Given the description of an element on the screen output the (x, y) to click on. 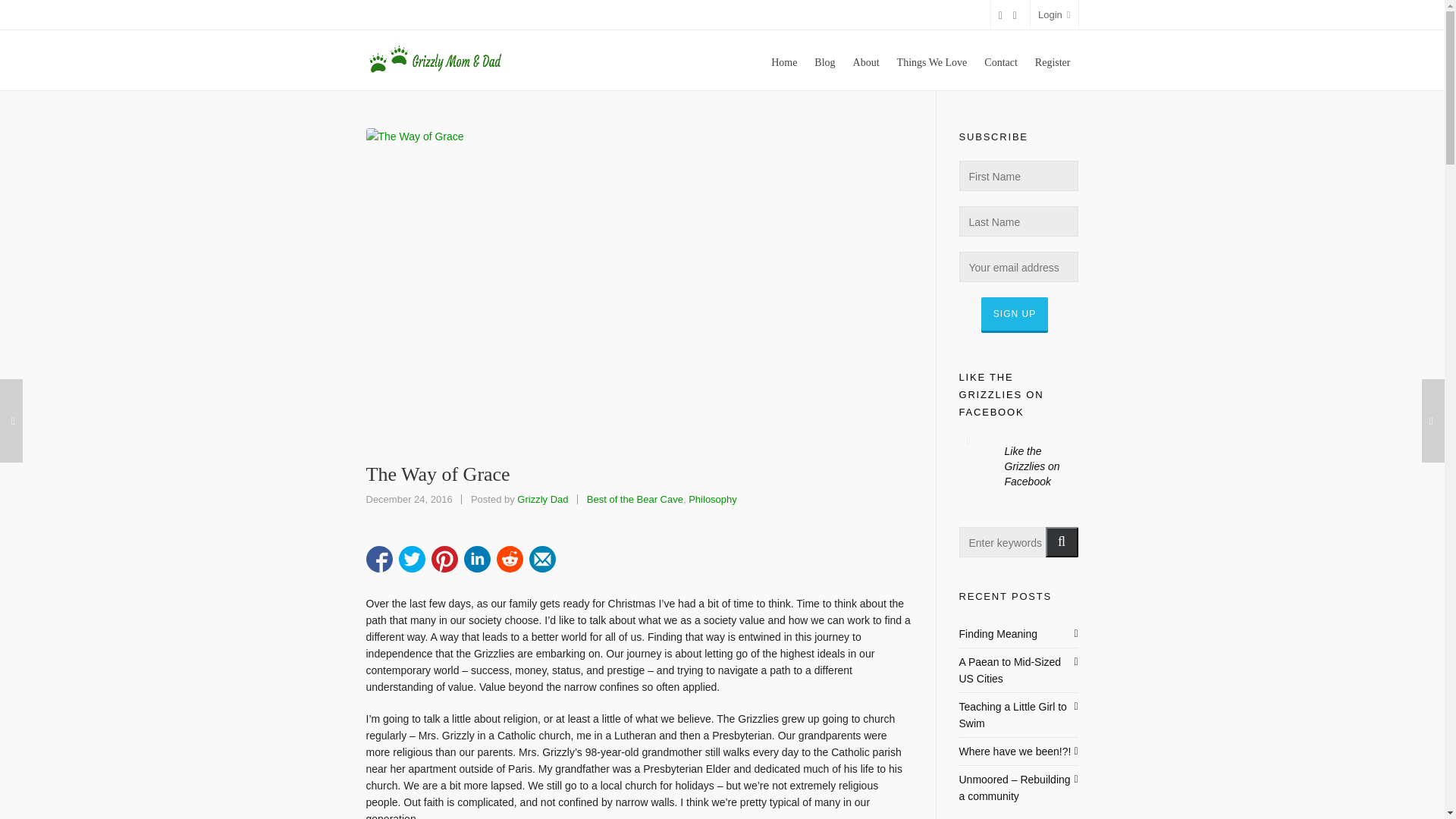
Best of the Bear Cave (634, 499)
Things We Love (931, 60)
Tweet (411, 559)
Philosophy (712, 499)
Share on Reddit (509, 559)
Sign up (1014, 313)
Share on Pinterest (443, 559)
Share on Facebook (378, 559)
Posts by Grizzly Dad (541, 499)
Grizzly Dad (541, 499)
Share on Linkedin (477, 559)
Login (1054, 15)
Send by email (542, 559)
